Given the description of an element on the screen output the (x, y) to click on. 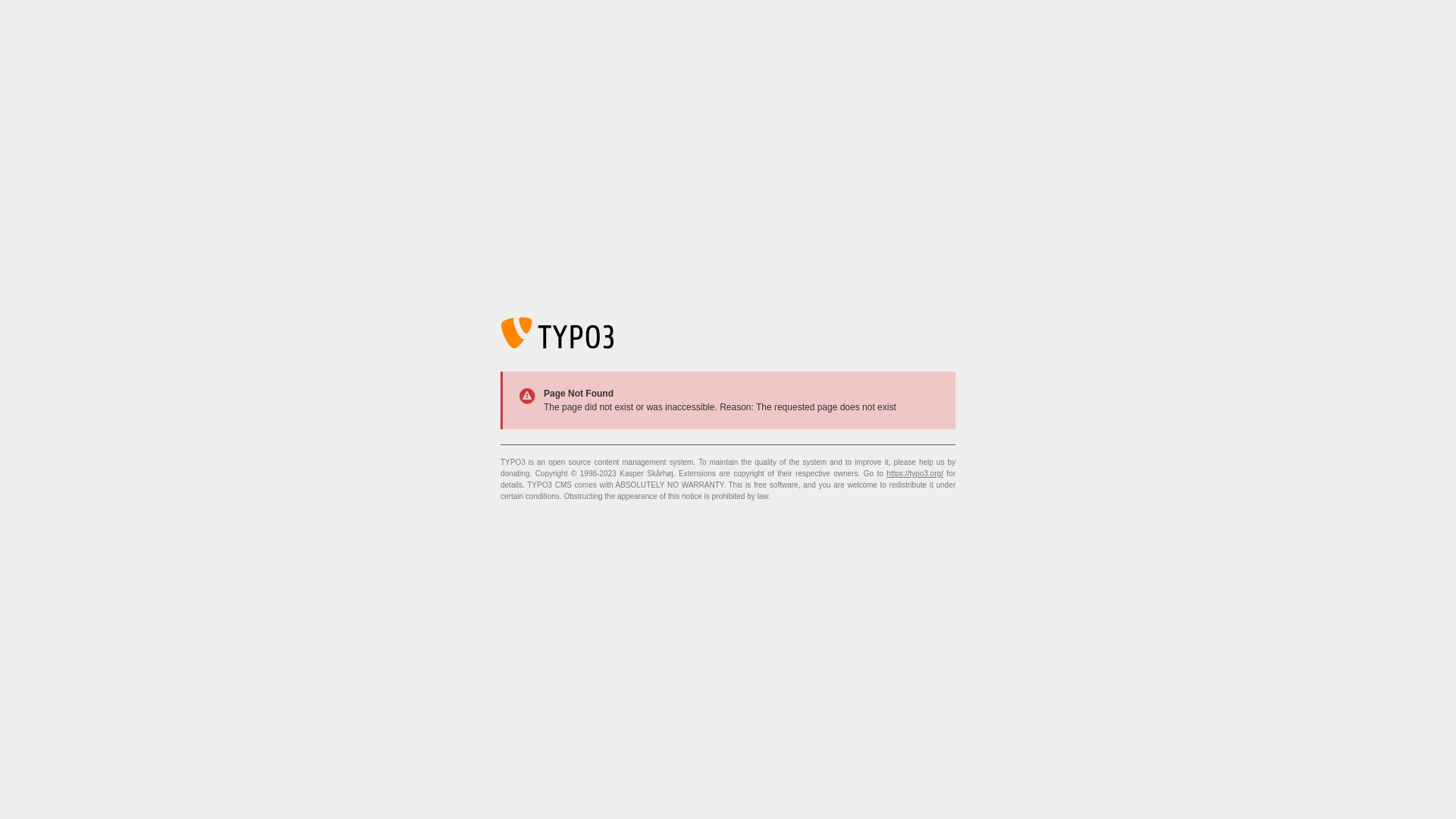
https://typo3.org/ Element type: text (914, 473)
